Given the description of an element on the screen output the (x, y) to click on. 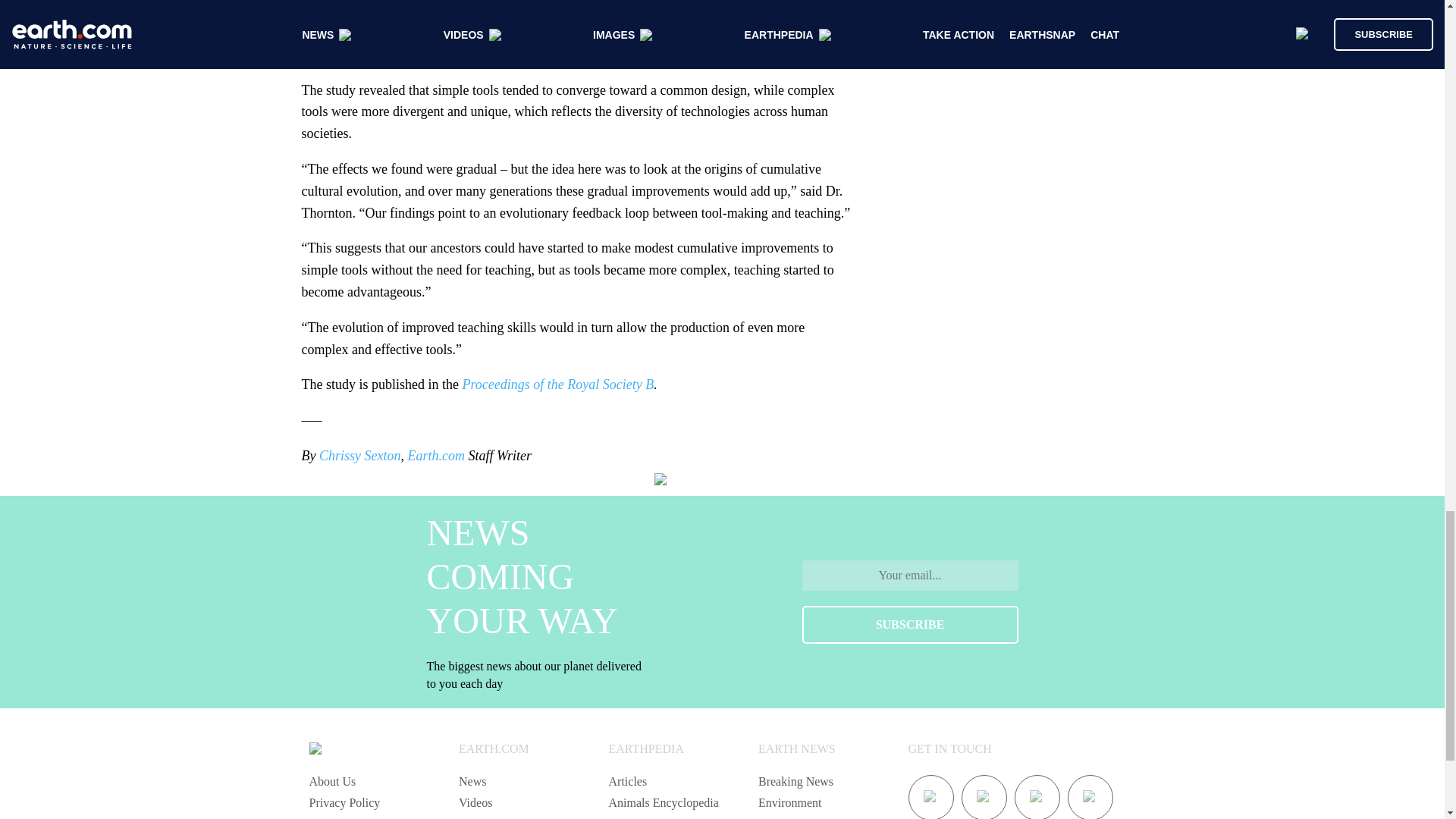
SUBSCRIBE (909, 624)
Chrissy Sexton (359, 455)
Earth.com (435, 455)
Proceedings of the Royal Society B (557, 384)
